Given the description of an element on the screen output the (x, y) to click on. 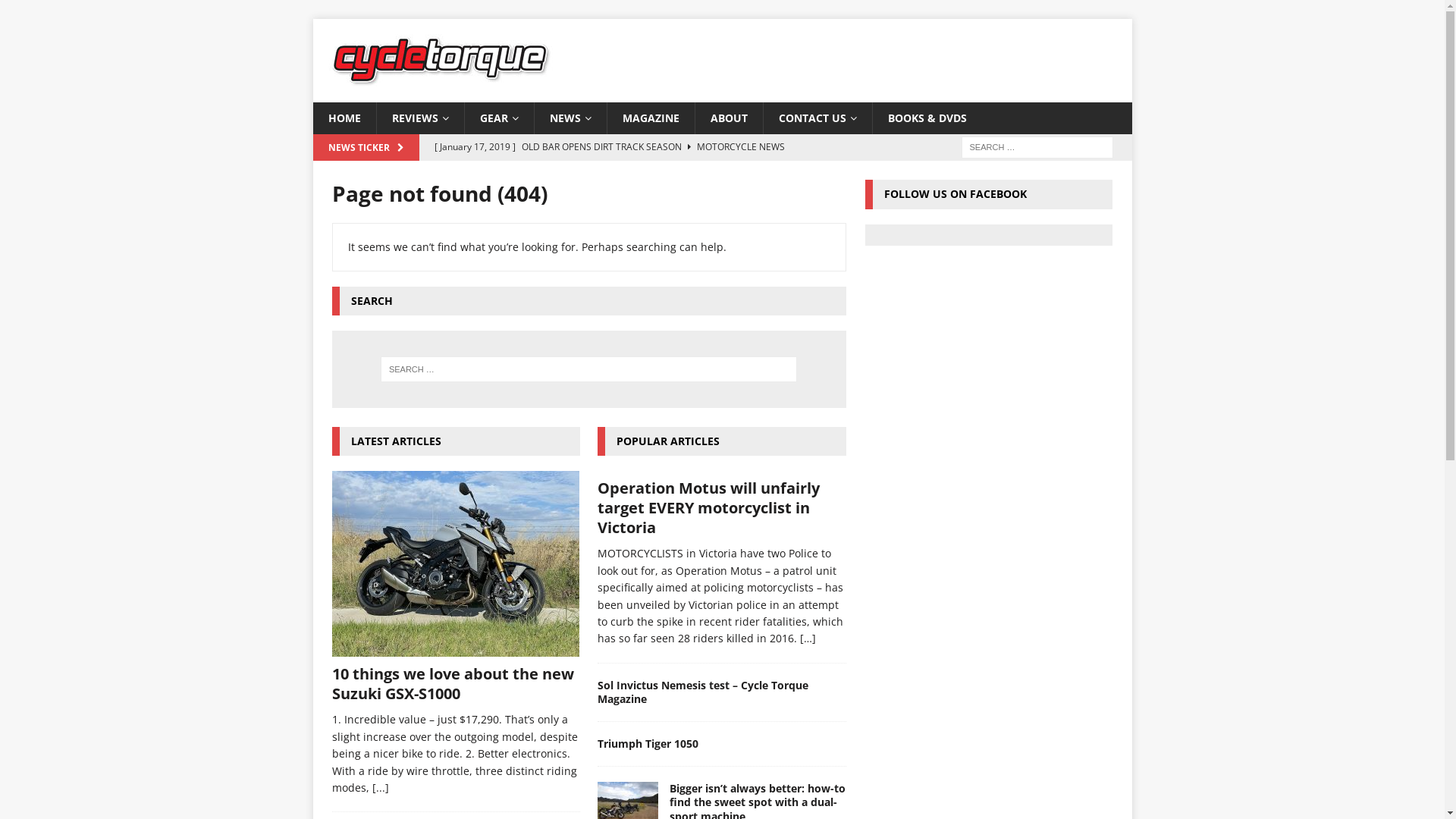
MAGAZINE Element type: text (650, 118)
ABOUT Element type: text (728, 118)
BOOKS & DVDS Element type: text (927, 118)
CONTACT US Element type: text (817, 118)
10 things we love about the new Suzuki GSX-S1000 Element type: text (453, 683)
NEWS Element type: text (569, 118)
Search Element type: text (56, 11)
GEAR Element type: text (498, 118)
Triumph Tiger 1050 Element type: text (647, 743)
Advertisement Element type: hover (992, 370)
HOME Element type: text (343, 118)
REVIEWS Element type: text (420, 118)
10 things we love about the new Suzuki GSX-S1000 Element type: hover (634, 185)
10 things we love about the new Suzuki GSX-S1000 Element type: hover (456, 563)
[...] Element type: text (379, 787)
